Given the description of an element on the screen output the (x, y) to click on. 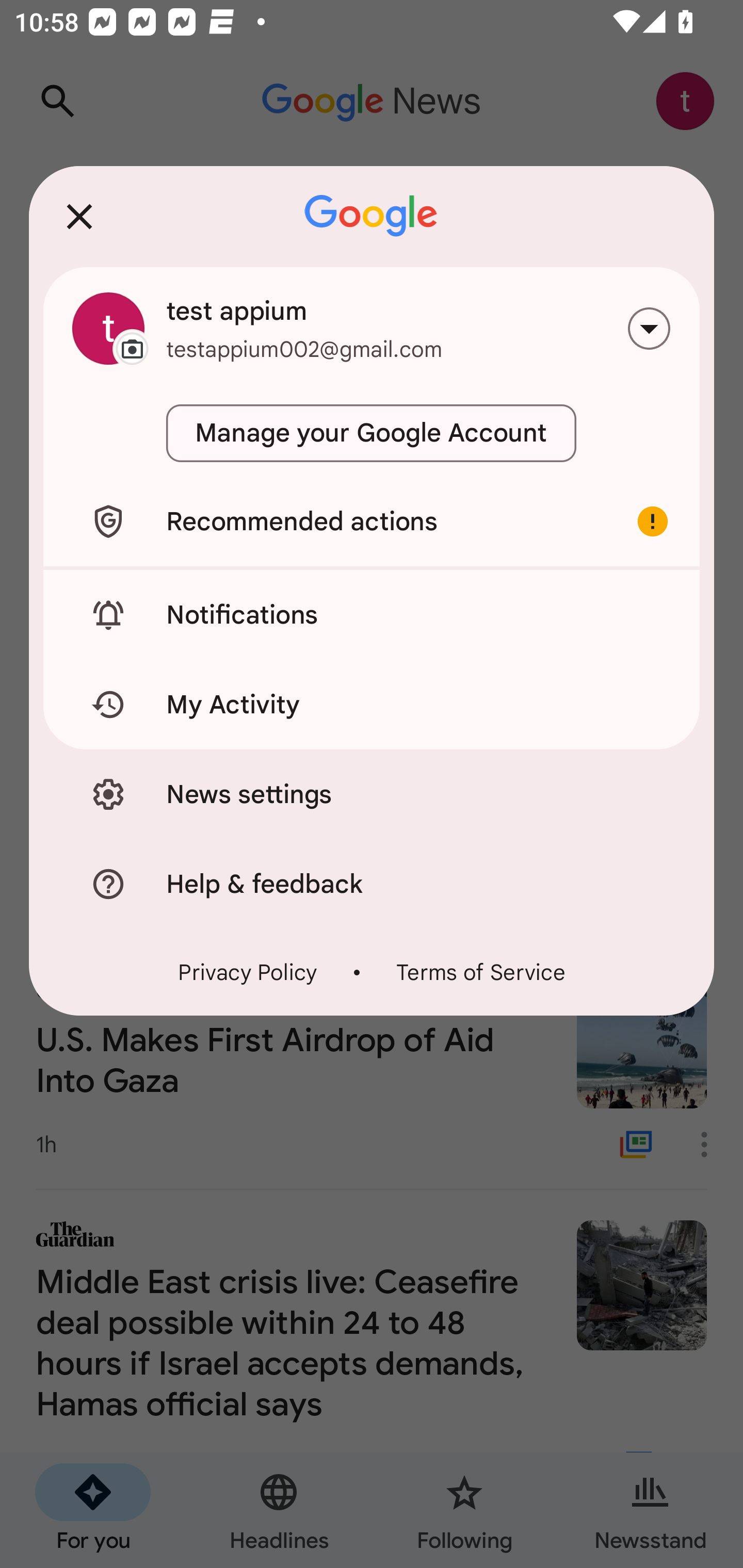
Close (79, 216)
Change profile picture. (108, 328)
Manage your Google Account (371, 433)
Recommended actions Important account alert (371, 521)
Notifications (371, 614)
My Activity (371, 704)
News settings (371, 793)
Help & feedback (371, 883)
Privacy Policy (247, 972)
Terms of Service (479, 972)
